Given the description of an element on the screen output the (x, y) to click on. 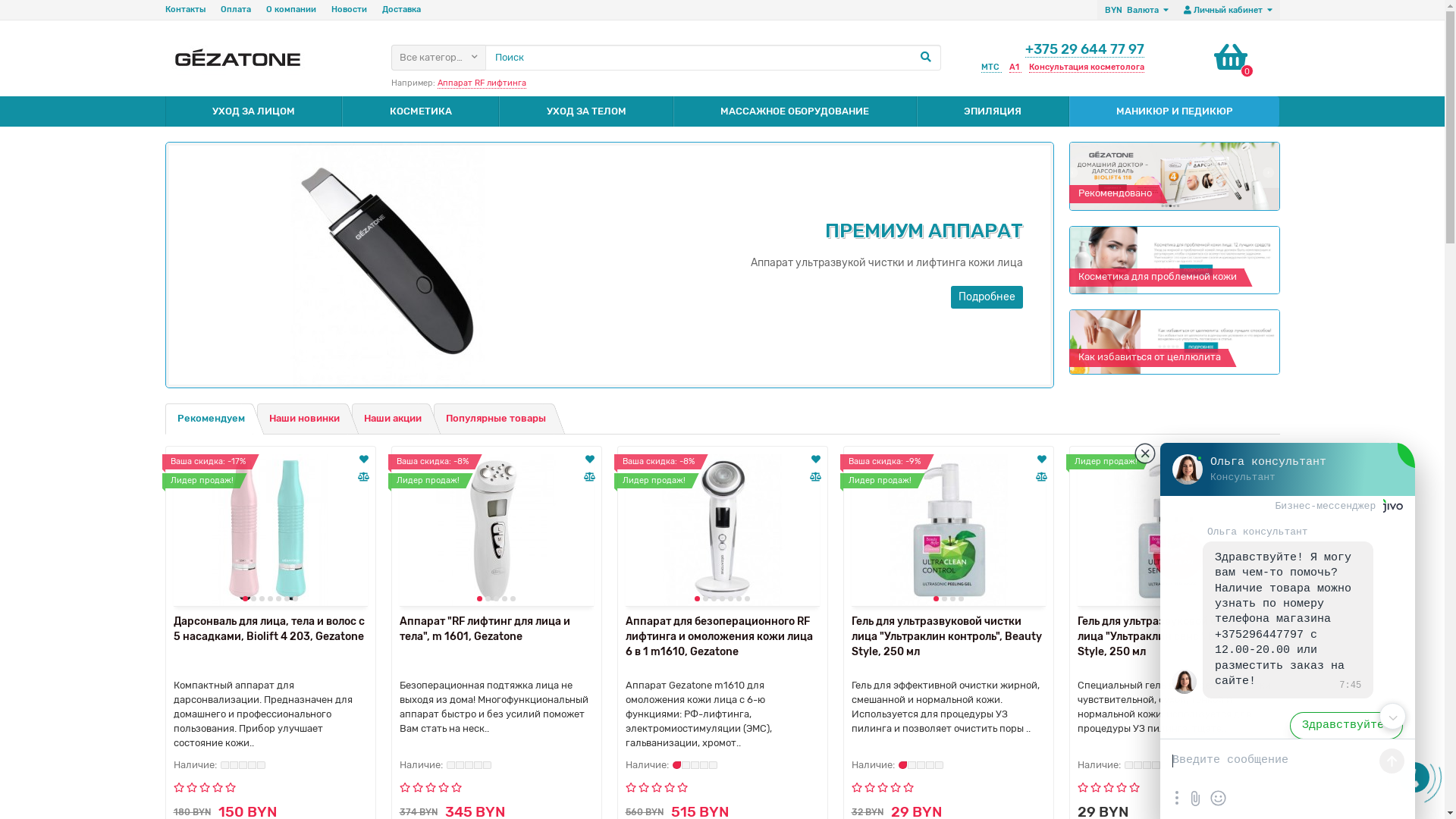
0 Element type: text (1429, 743)
0 Element type: text (1230, 57)
